Given the description of an element on the screen output the (x, y) to click on. 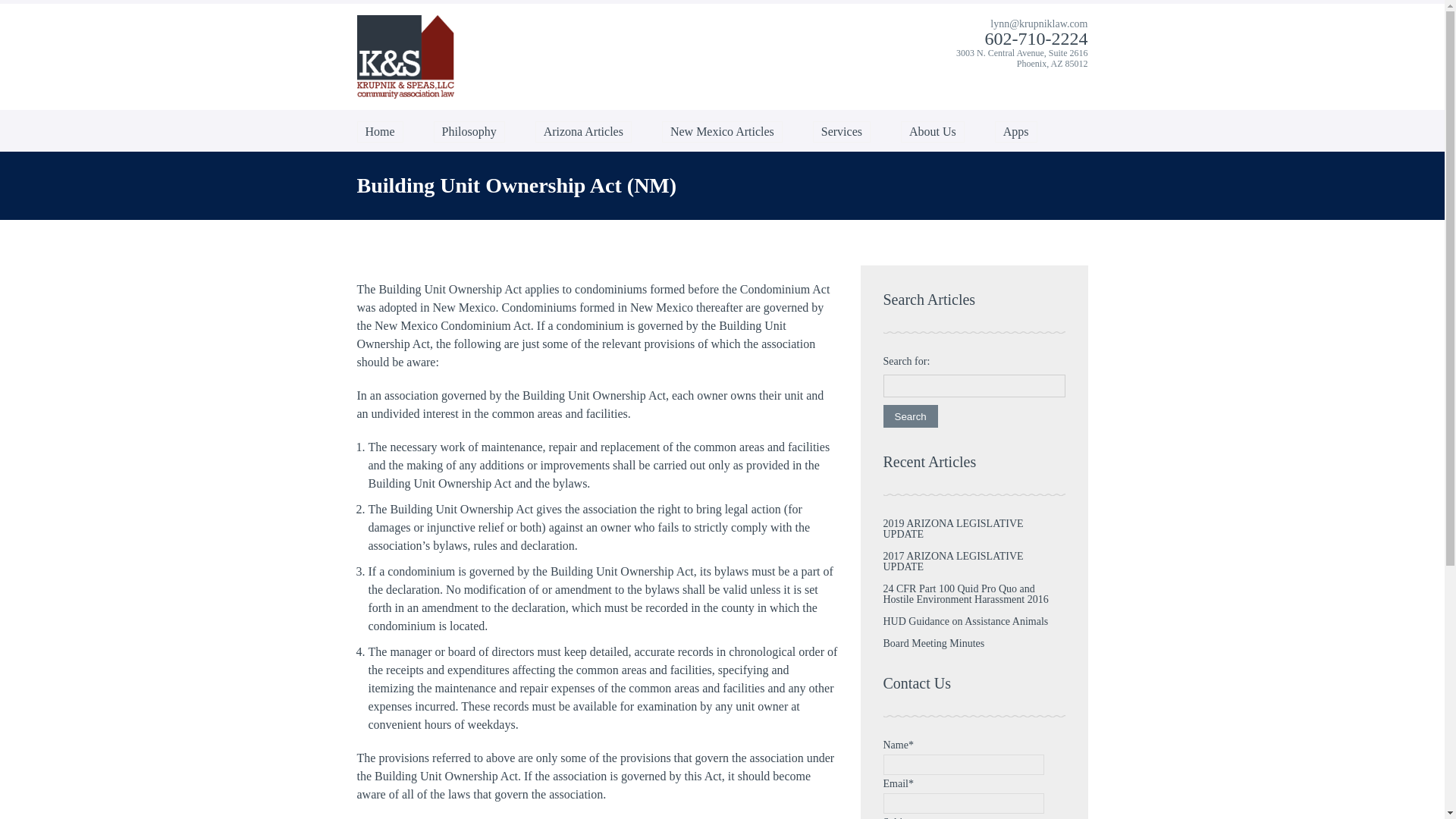
New Mexico Articles (722, 131)
Home (379, 131)
602-710-2224 (1036, 38)
Search (909, 415)
About Us (932, 131)
Services (841, 131)
602-710-2224 (1036, 38)
2019 ARIZONA LEGISLATIVE UPDATE (952, 528)
Search (909, 415)
HUD Guidance on Assistance Animals (965, 621)
